Given the description of an element on the screen output the (x, y) to click on. 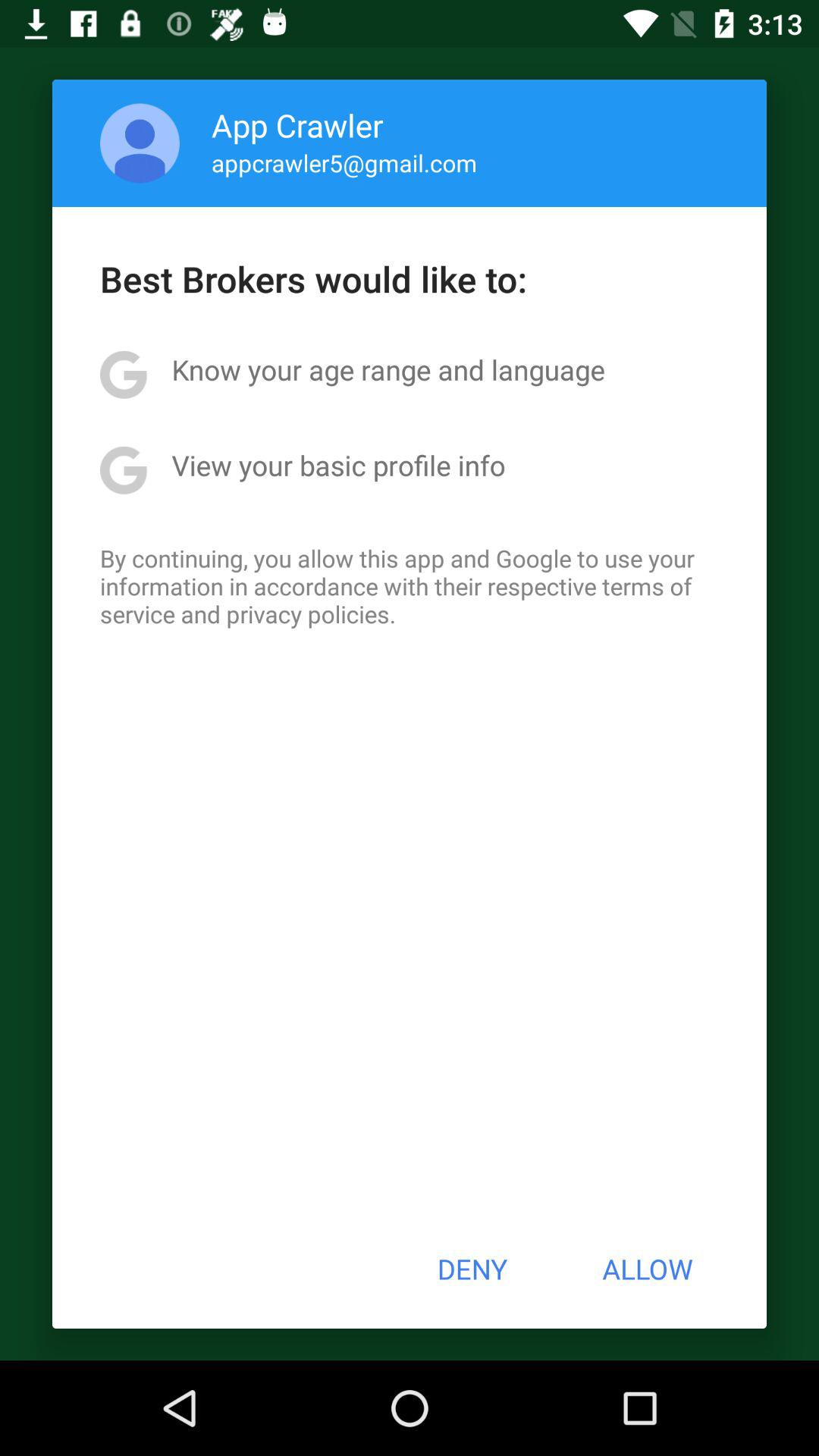
launch the app crawler app (297, 124)
